Given the description of an element on the screen output the (x, y) to click on. 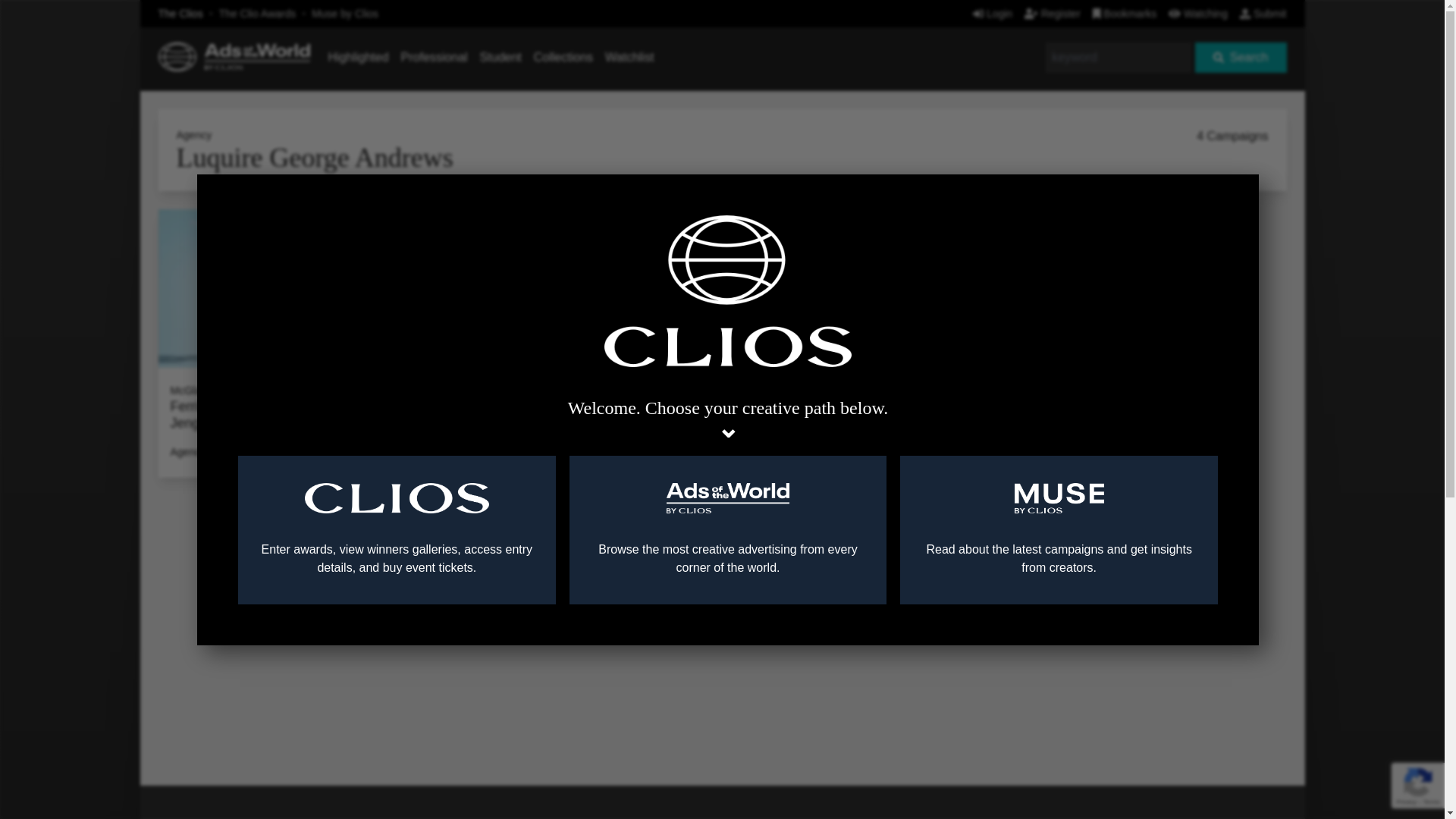
Search (1241, 57)
Student (500, 56)
Highlighted (357, 56)
Professional (434, 56)
Bookmarks (1125, 13)
Muse by Clios (344, 13)
Login (991, 13)
Submit (1263, 13)
Collections (563, 56)
Watching (1198, 13)
